Given the description of an element on the screen output the (x, y) to click on. 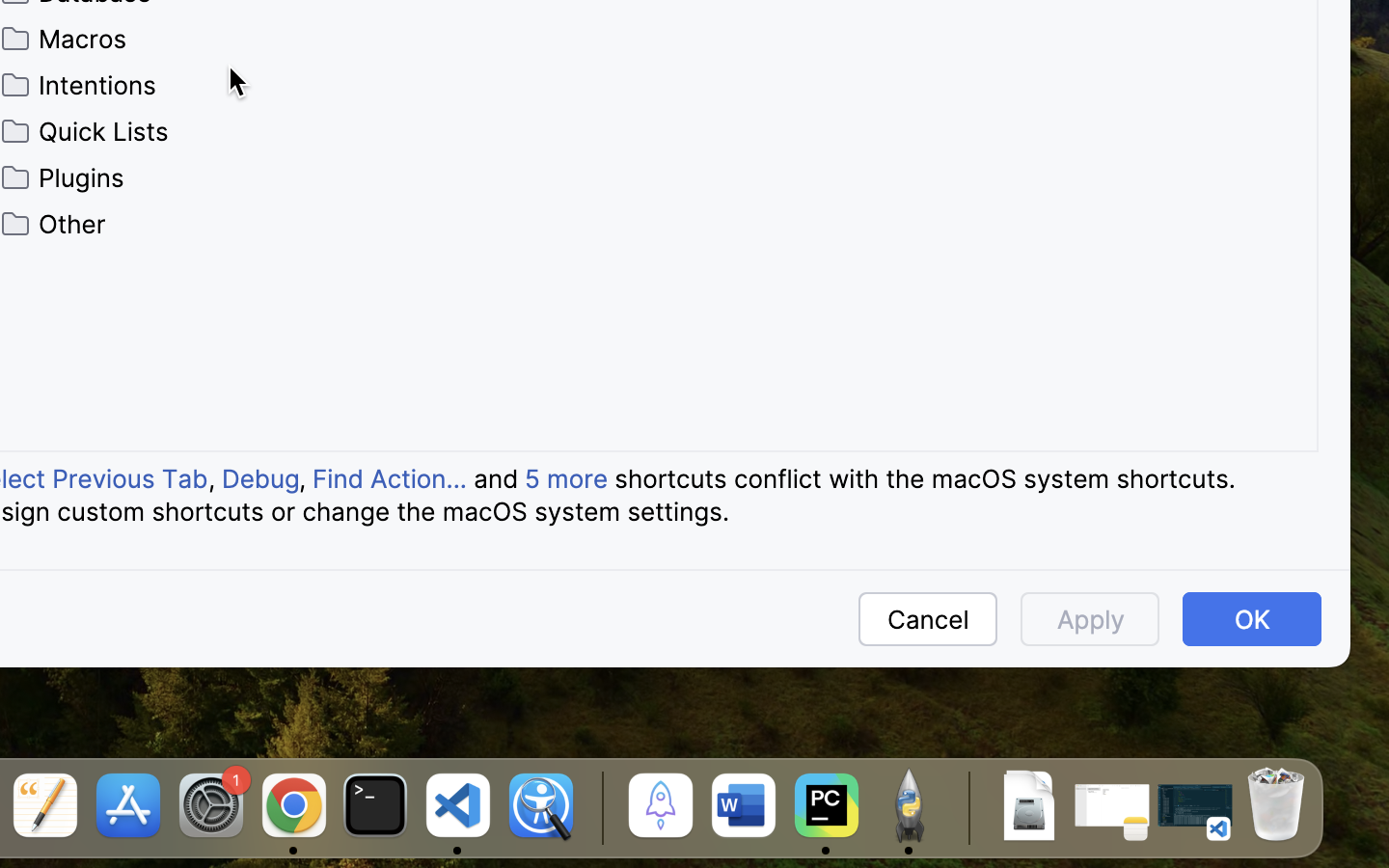
0.4285714328289032 Element type: AXDockItem (598, 807)
